Given the description of an element on the screen output the (x, y) to click on. 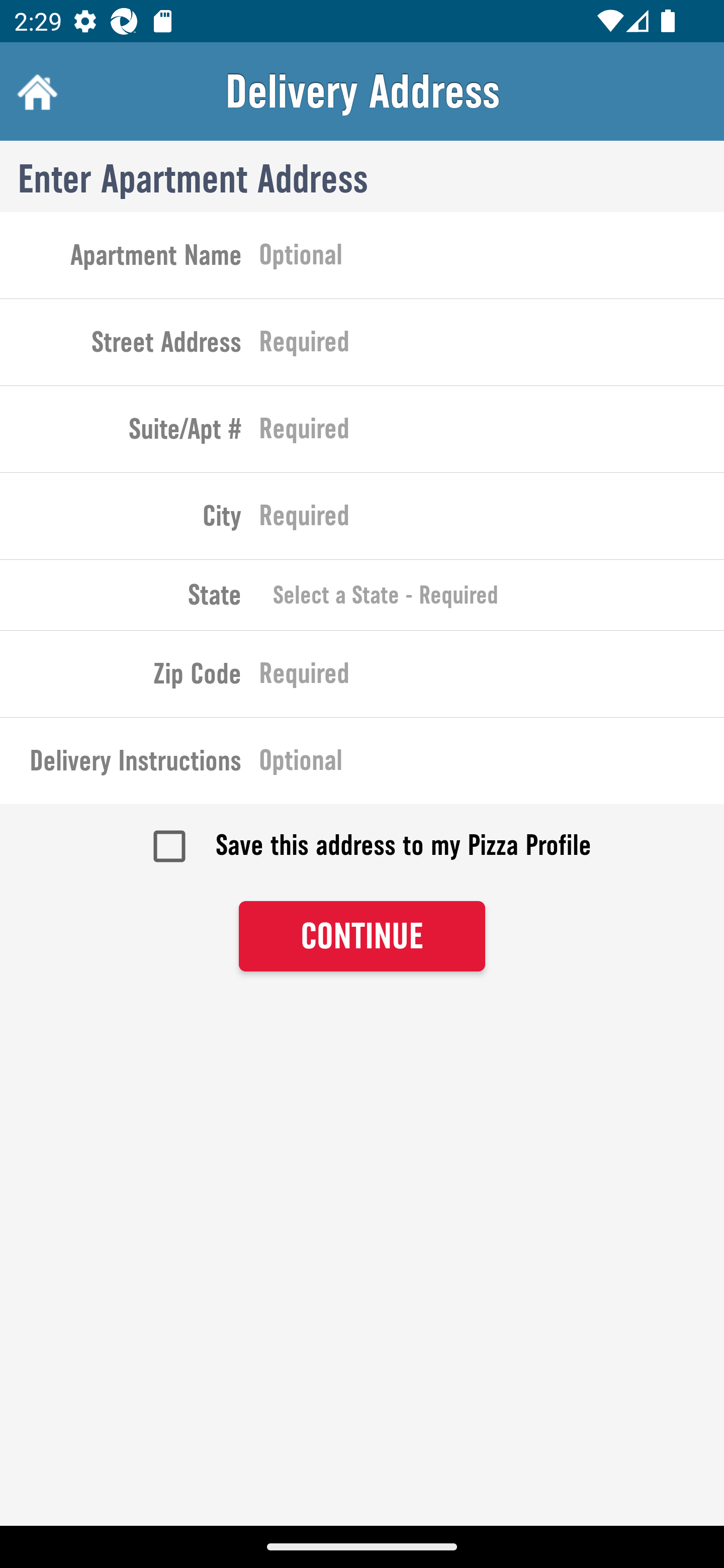
Home (35, 91)
Optional (491, 258)
Required (491, 345)
Required (491, 432)
Required (491, 519)
Select a State - Required (491, 594)
Required (491, 677)
Optional (491, 764)
CONTINUE (361, 936)
